Given the description of an element on the screen output the (x, y) to click on. 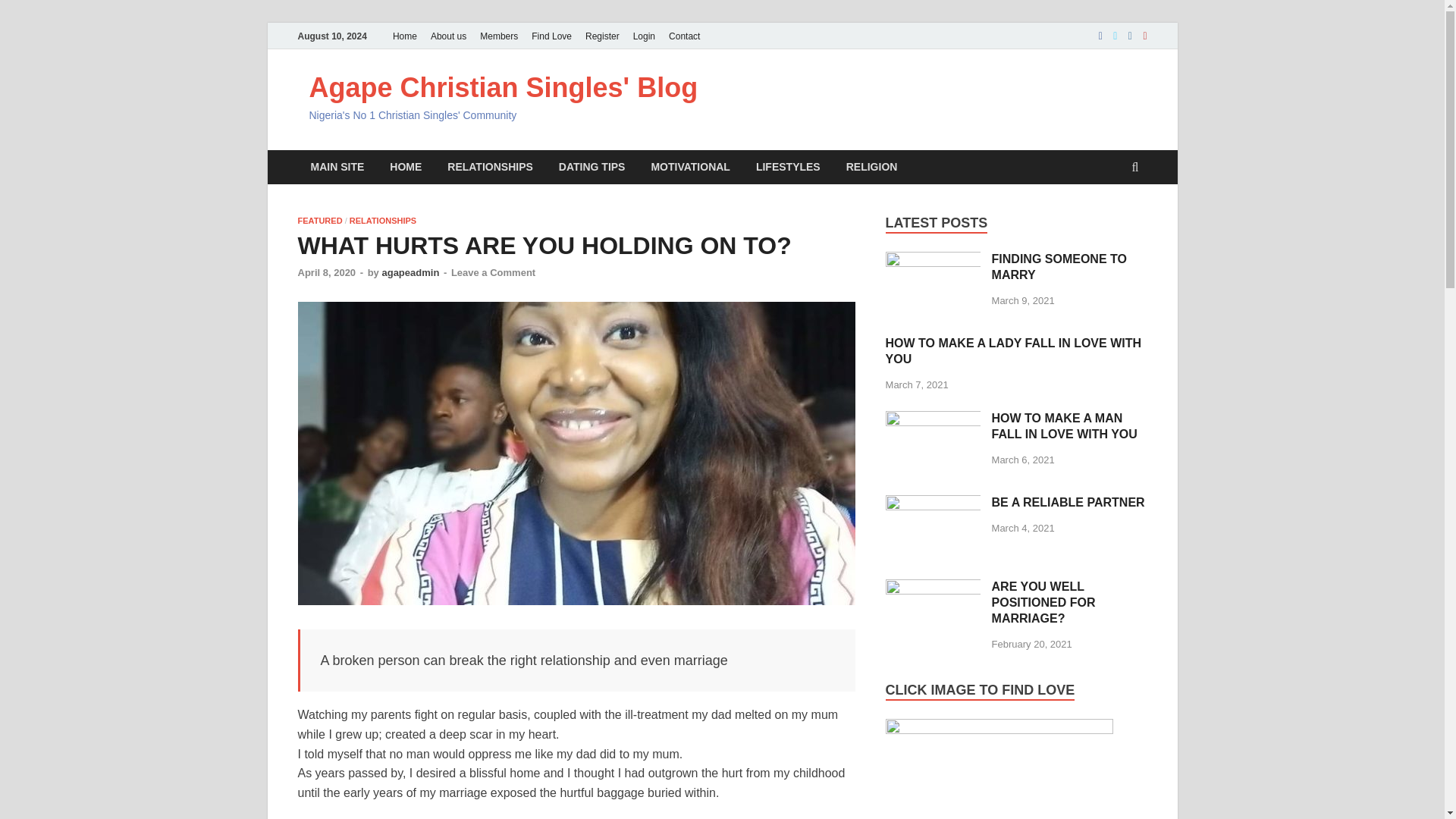
Home (404, 35)
FEATURED (319, 220)
HOW TO MAKE A MAN FALL IN LOVE WITH YOU (932, 419)
Login (644, 35)
Find Love (551, 35)
RELATIONSHIPS (489, 166)
ARE YOU WELL POSITIONED FOR MARRIAGE? (932, 587)
LIFESTYLES (787, 166)
Contact (684, 35)
agapeadmin (410, 272)
